Given the description of an element on the screen output the (x, y) to click on. 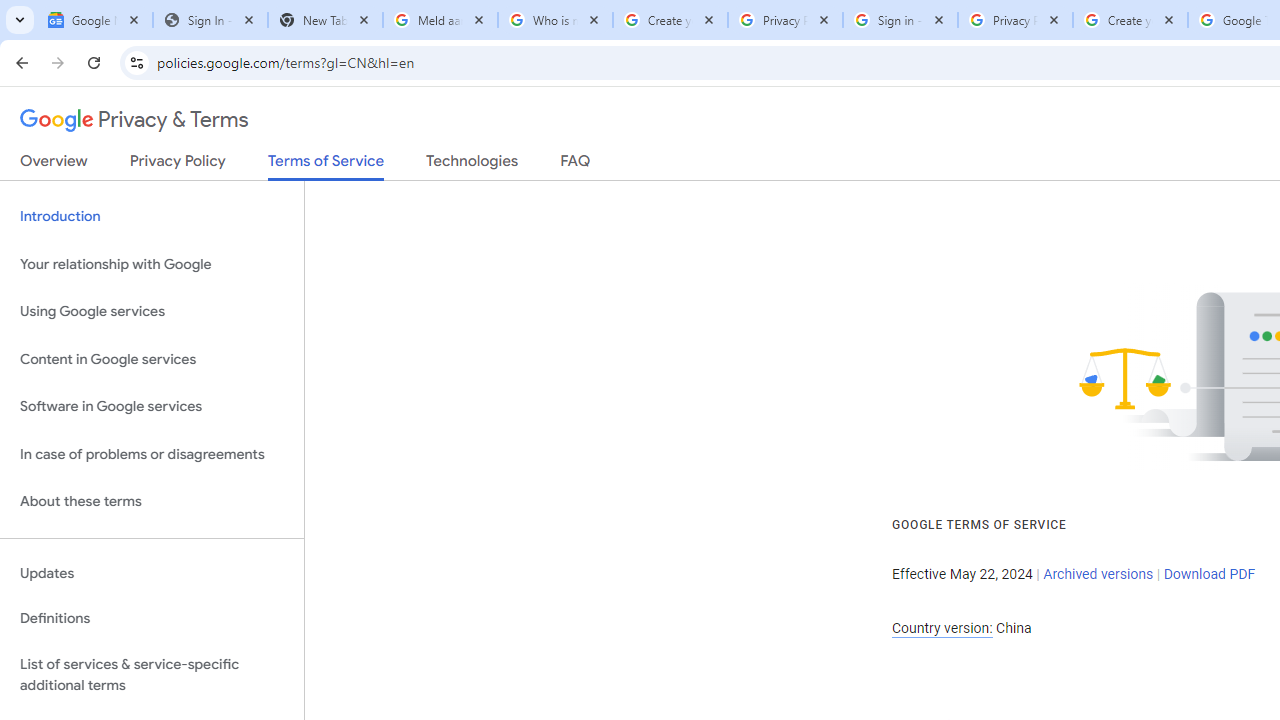
Updates (152, 573)
Country version: (942, 628)
Google News (95, 20)
Using Google services (152, 312)
Create your Google Account (670, 20)
New Tab (324, 20)
List of services & service-specific additional terms (152, 674)
Sign in - Google Accounts (900, 20)
